Given the description of an element on the screen output the (x, y) to click on. 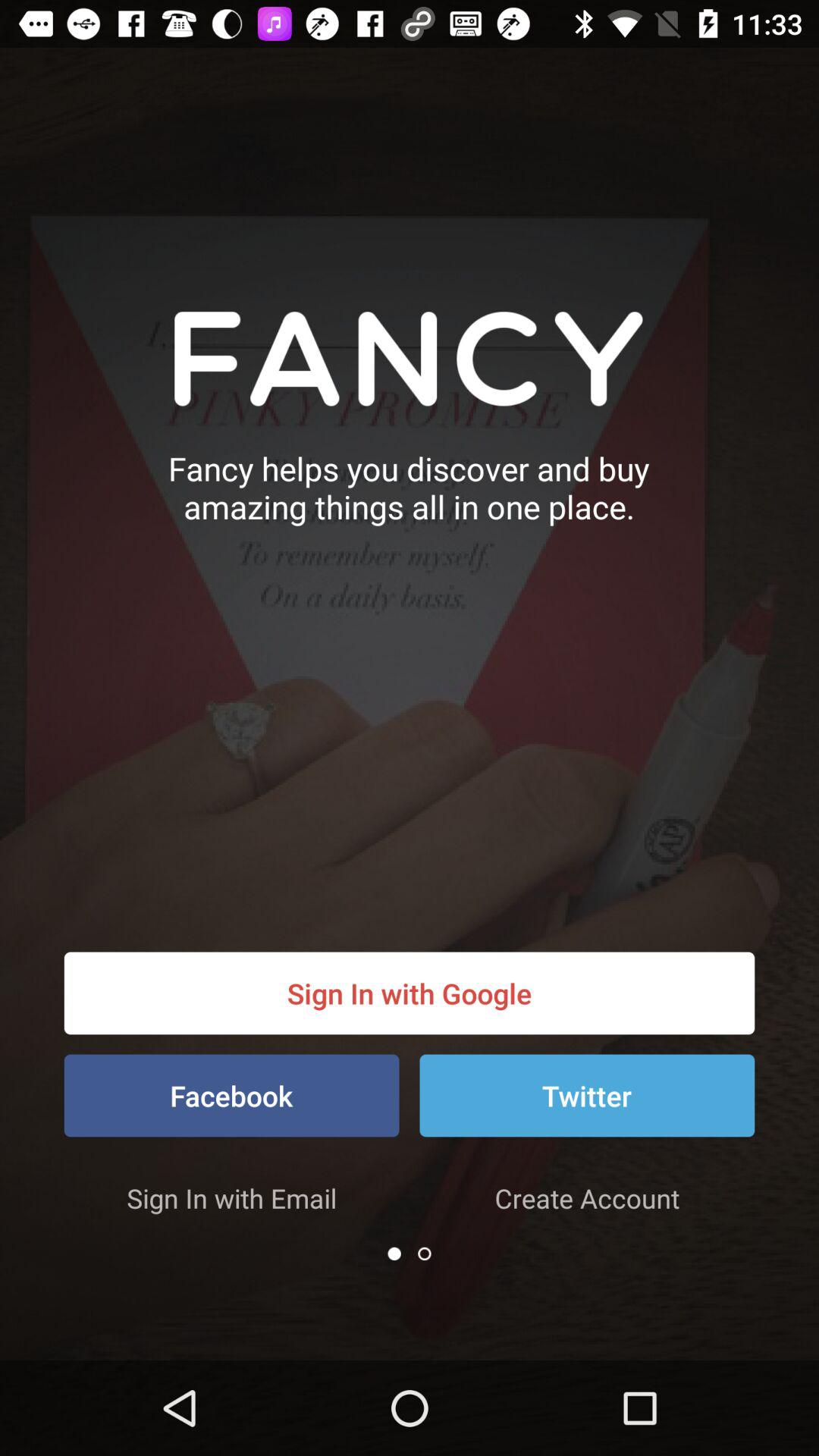
click the icon below the create account (424, 1253)
